Given the description of an element on the screen output the (x, y) to click on. 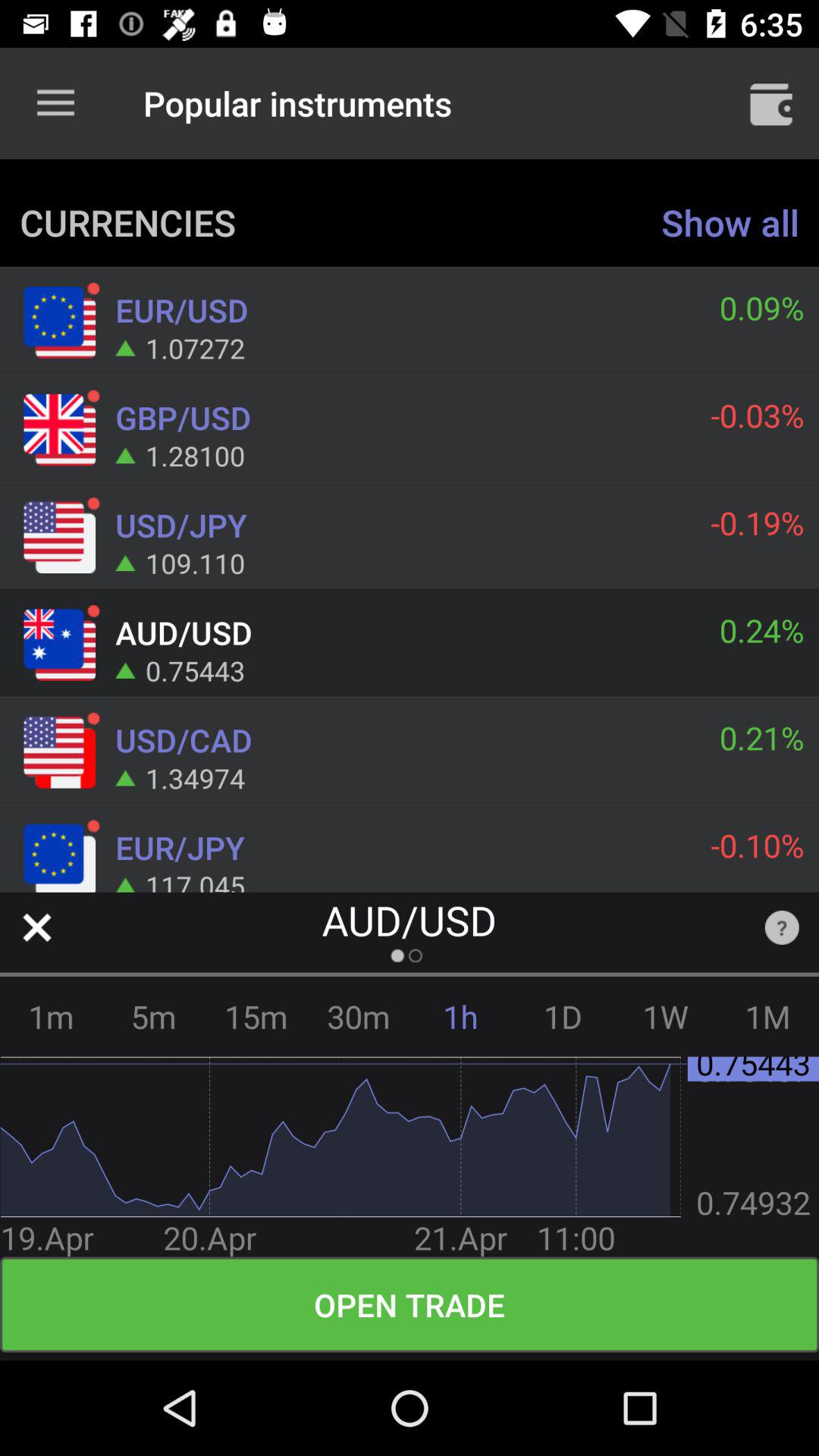
close window (36, 927)
